Given the description of an element on the screen output the (x, y) to click on. 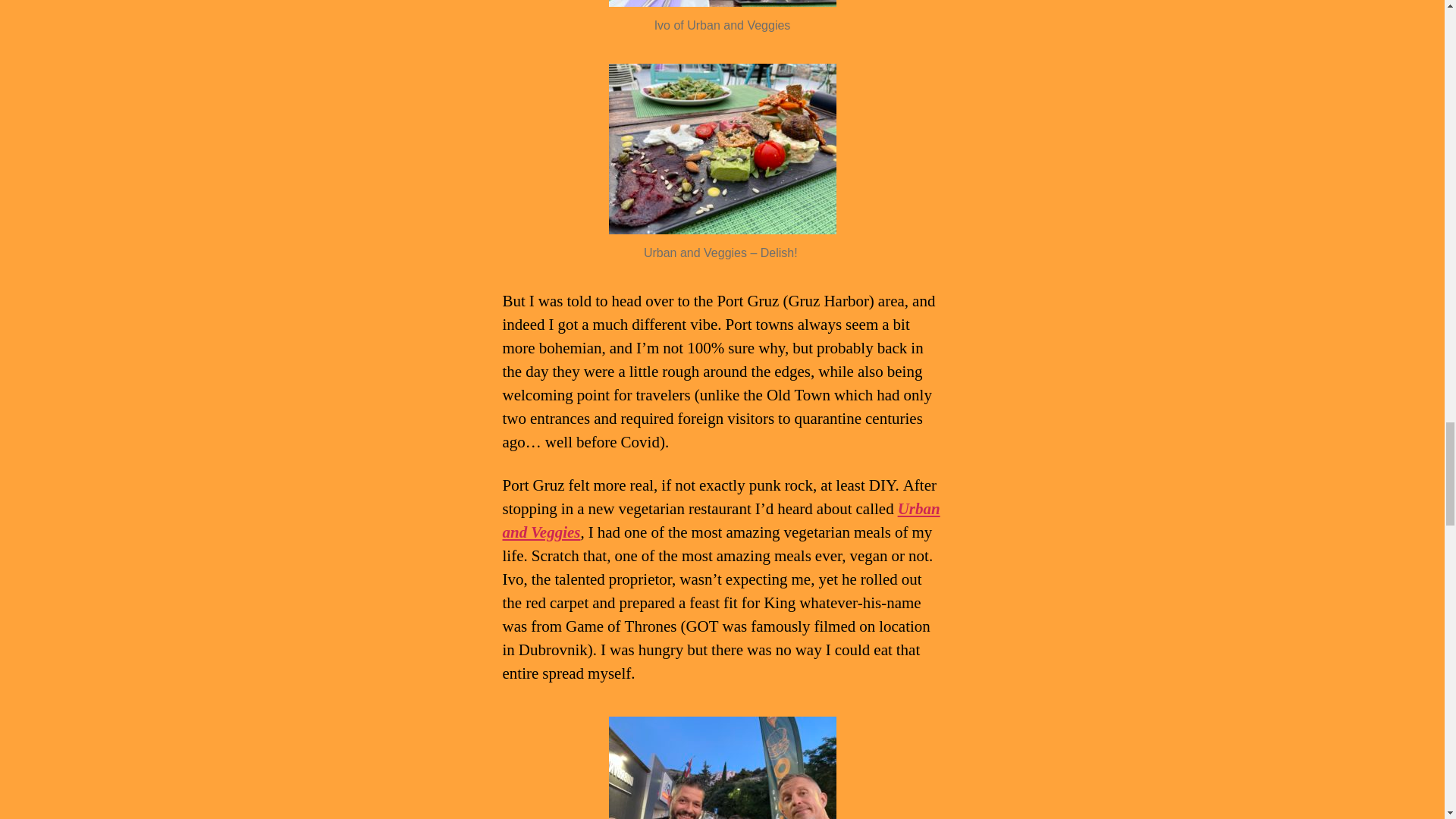
Urban and Veggies (720, 520)
